Given the description of an element on the screen output the (x, y) to click on. 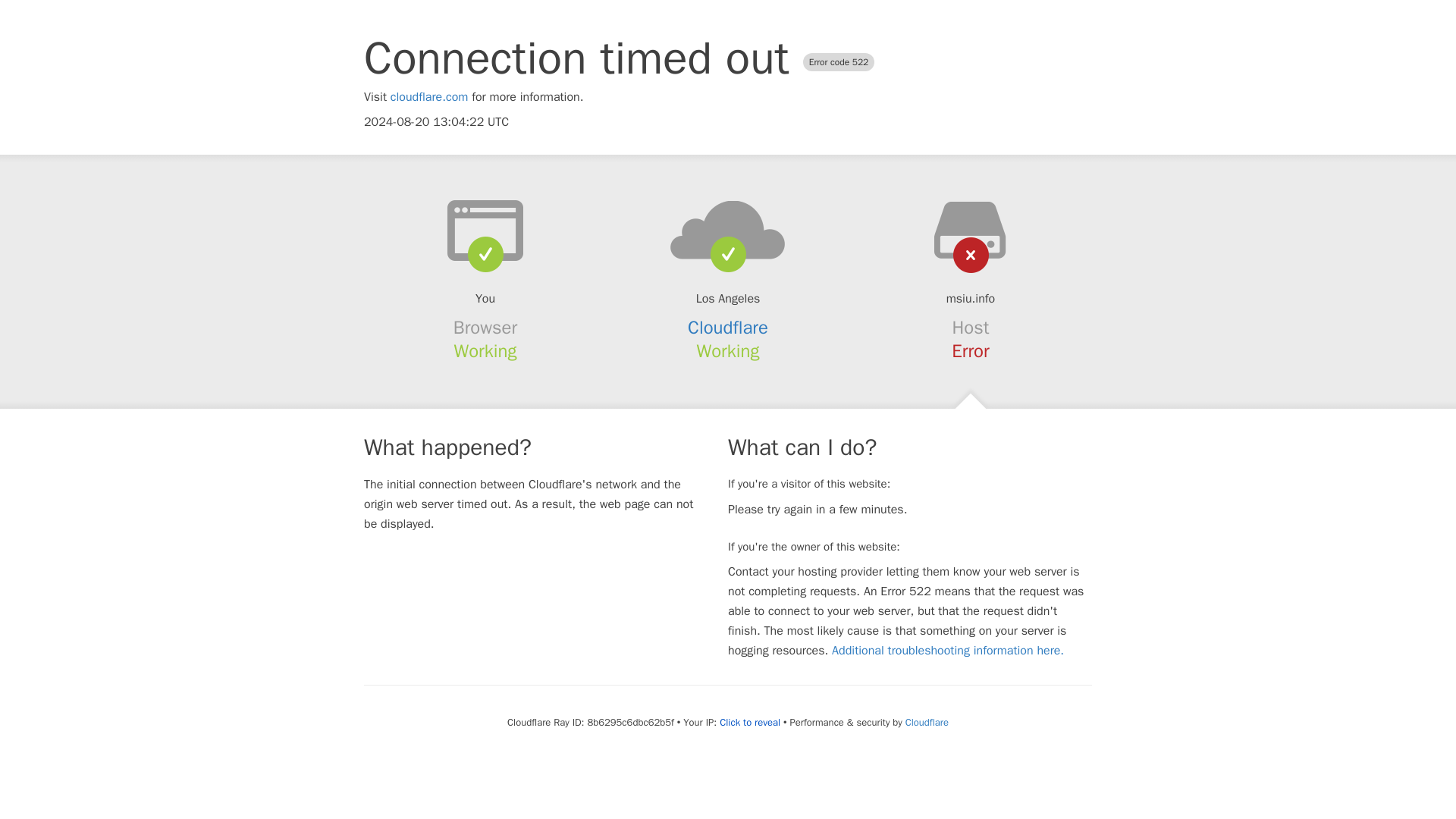
Cloudflare (927, 721)
Cloudflare (727, 327)
cloudflare.com (429, 96)
Additional troubleshooting information here. (947, 650)
Click to reveal (749, 722)
